Given the description of an element on the screen output the (x, y) to click on. 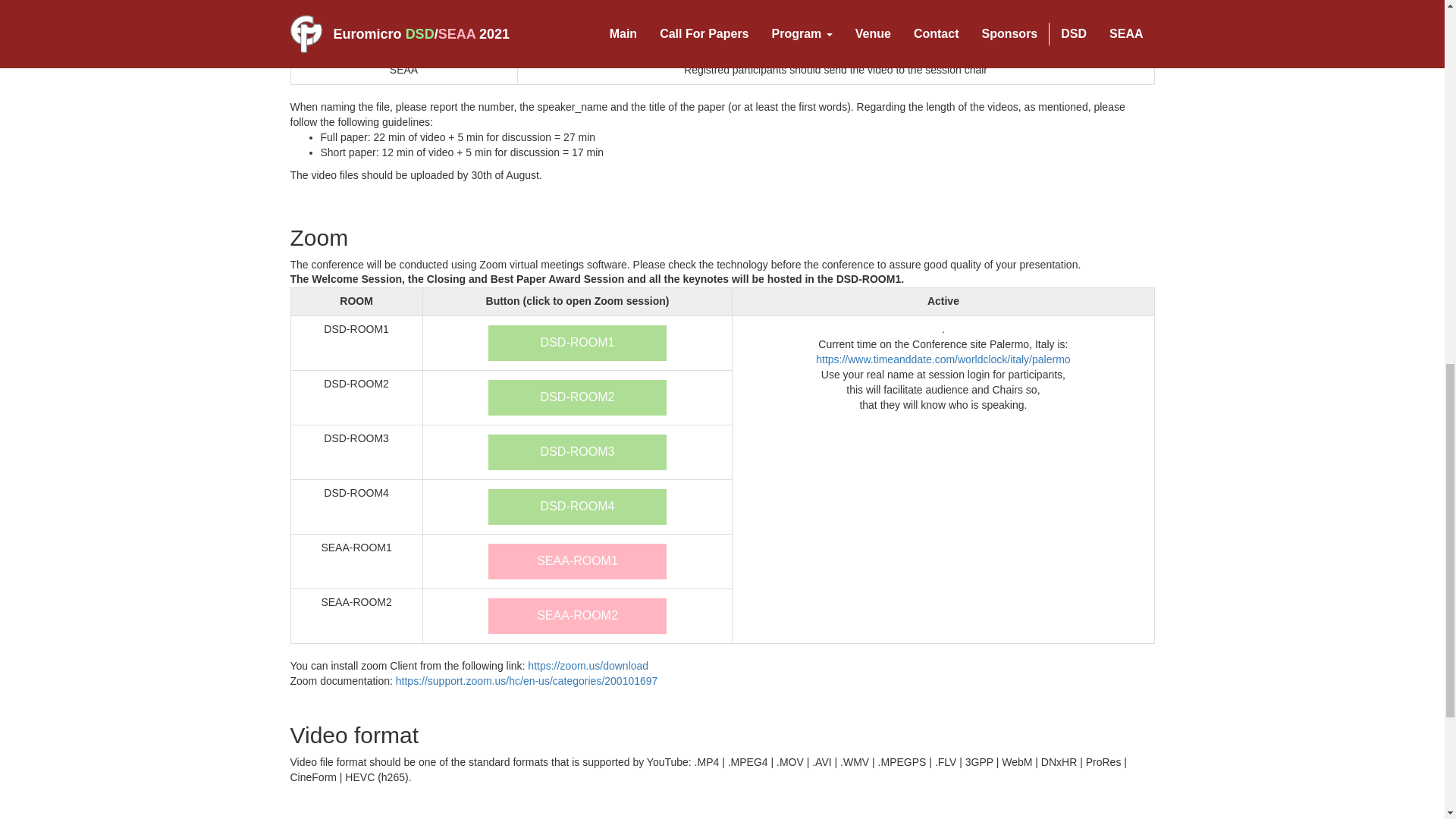
DSD-ROOM2 (576, 397)
SEAA-ROOM2 (576, 615)
DSD-ROOM3 (576, 452)
DSD-ROOM4 (576, 506)
DSD-ROOM1 (576, 343)
SEAA-ROOM1 (576, 561)
